Given the description of an element on the screen output the (x, y) to click on. 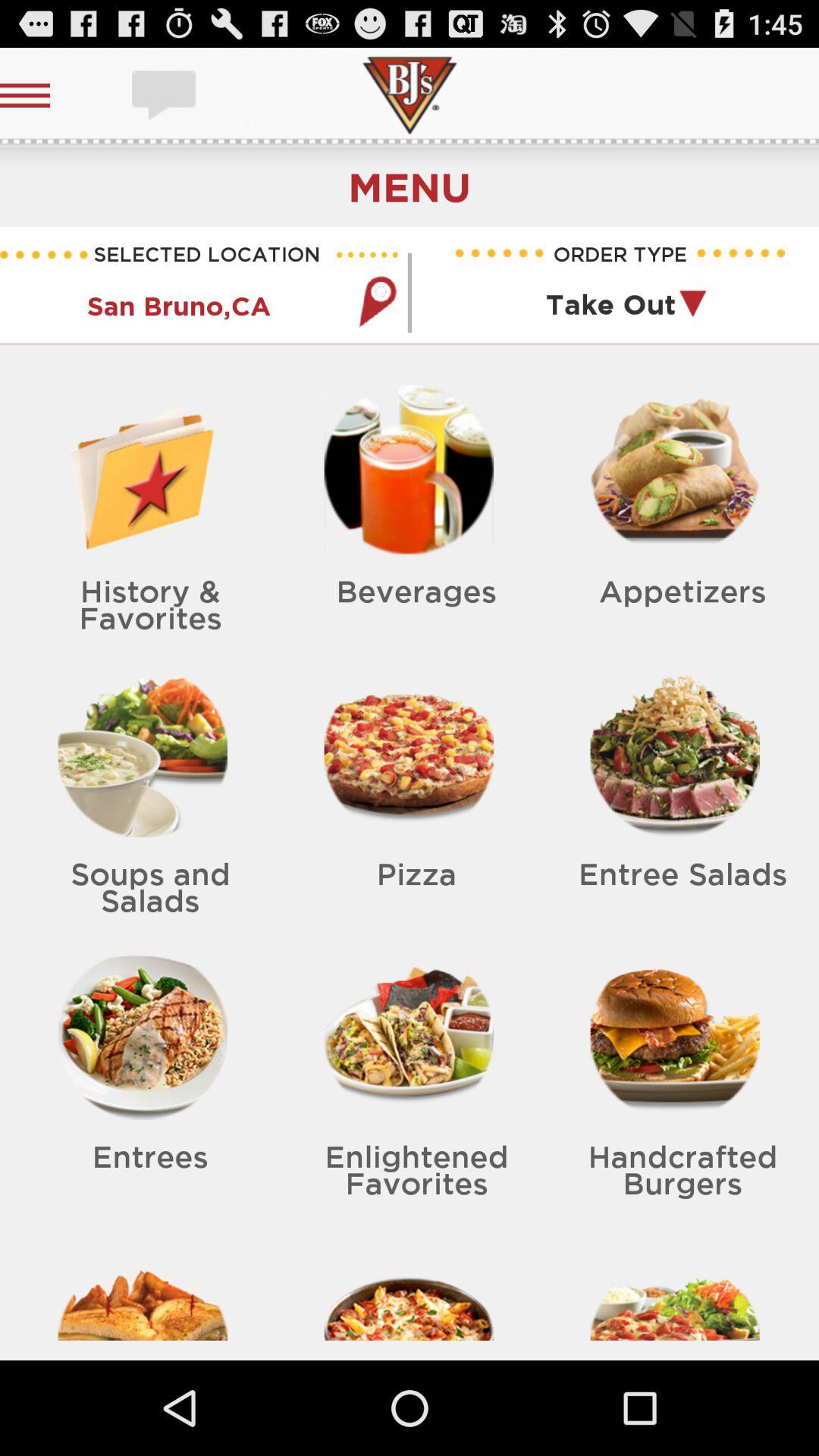
go to subtitties (165, 95)
